Given the description of an element on the screen output the (x, y) to click on. 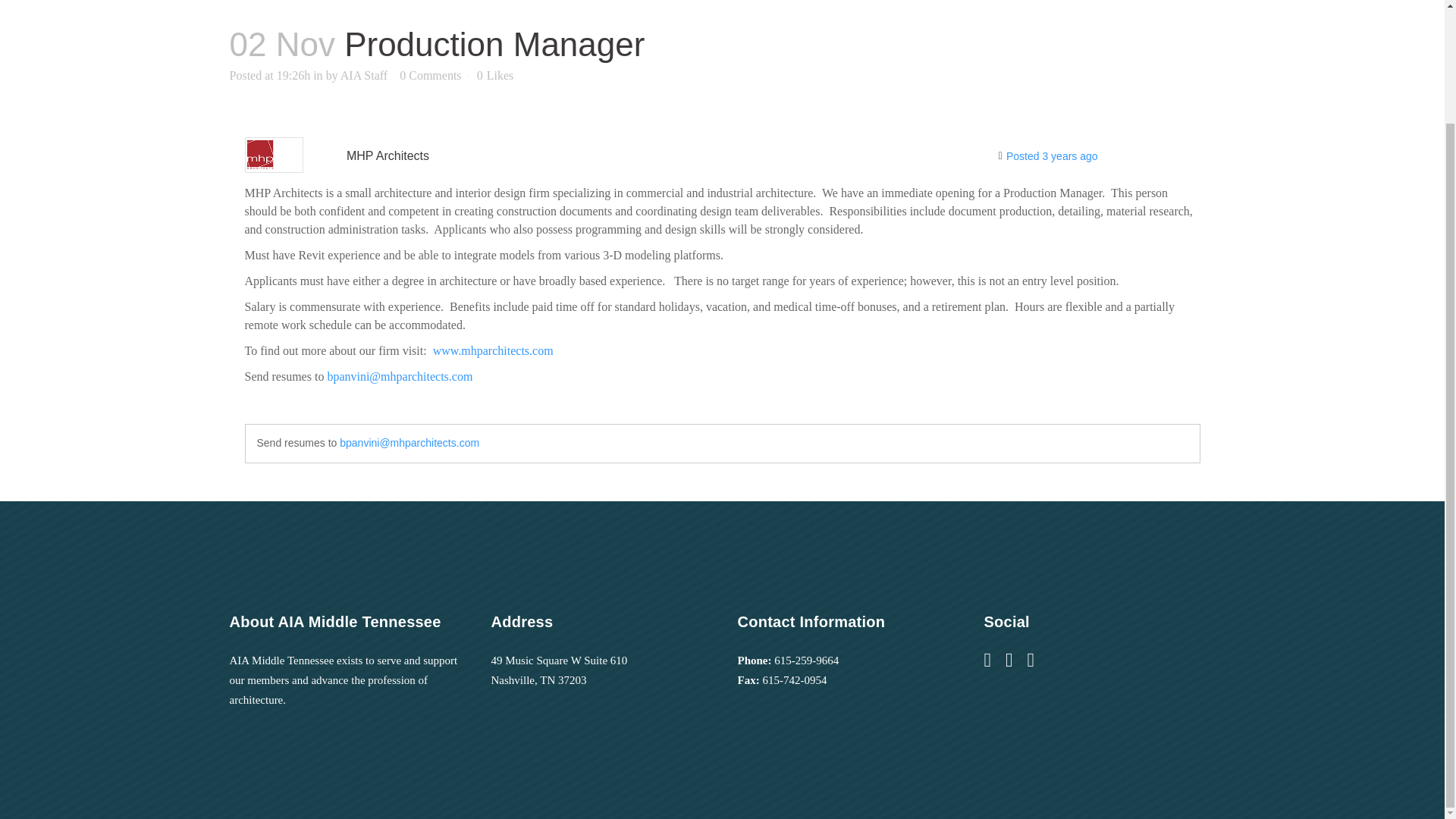
Like this (495, 75)
